Given the description of an element on the screen output the (x, y) to click on. 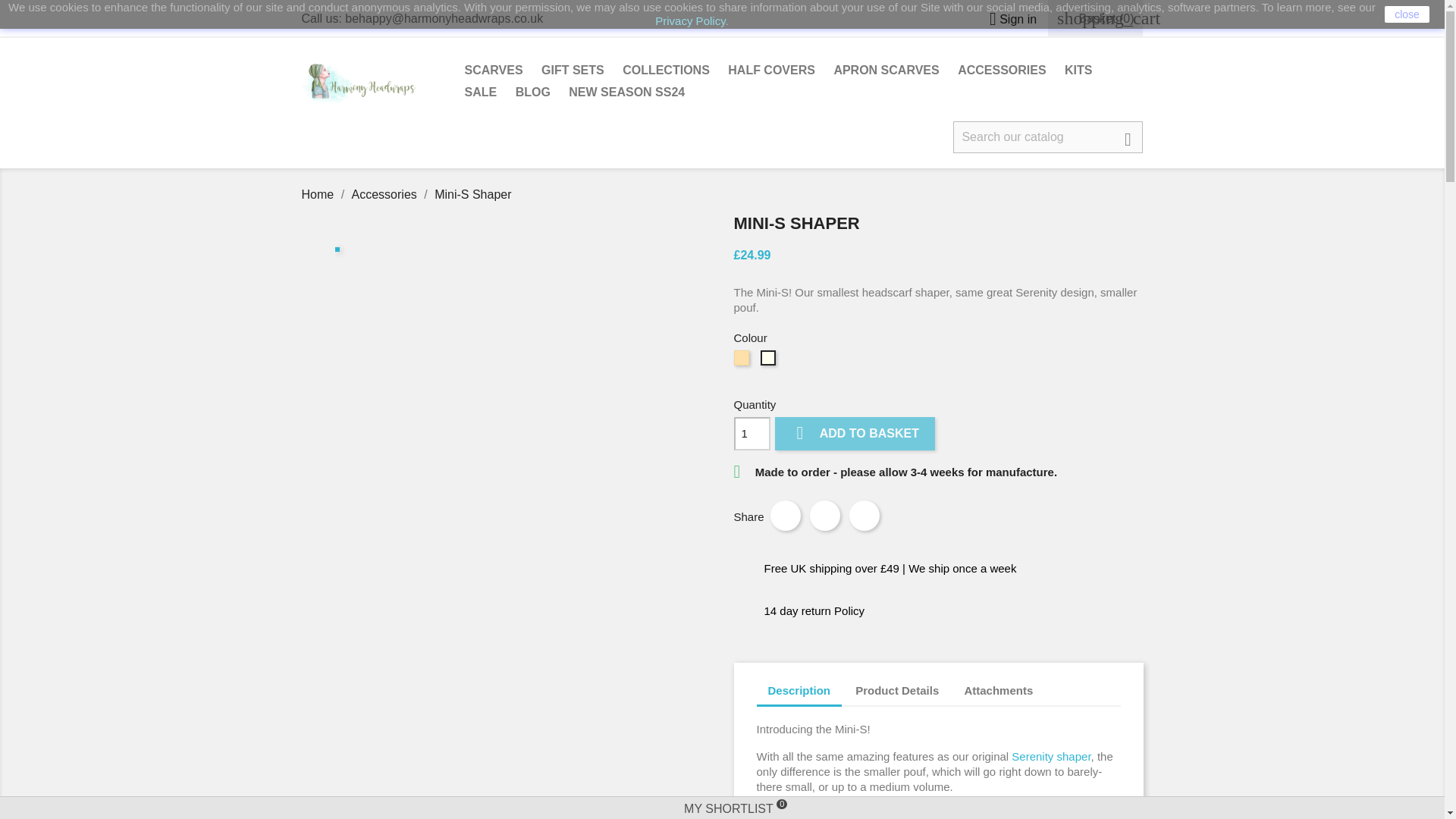
Log in to your customer account (1007, 19)
COLLECTIONS (665, 71)
1 (751, 433)
Tweet (824, 515)
KITS (1078, 71)
Home (319, 194)
Share (785, 515)
Mini-S Shaper (472, 194)
Accessories (386, 194)
SCARVES (493, 71)
